Given the description of an element on the screen output the (x, y) to click on. 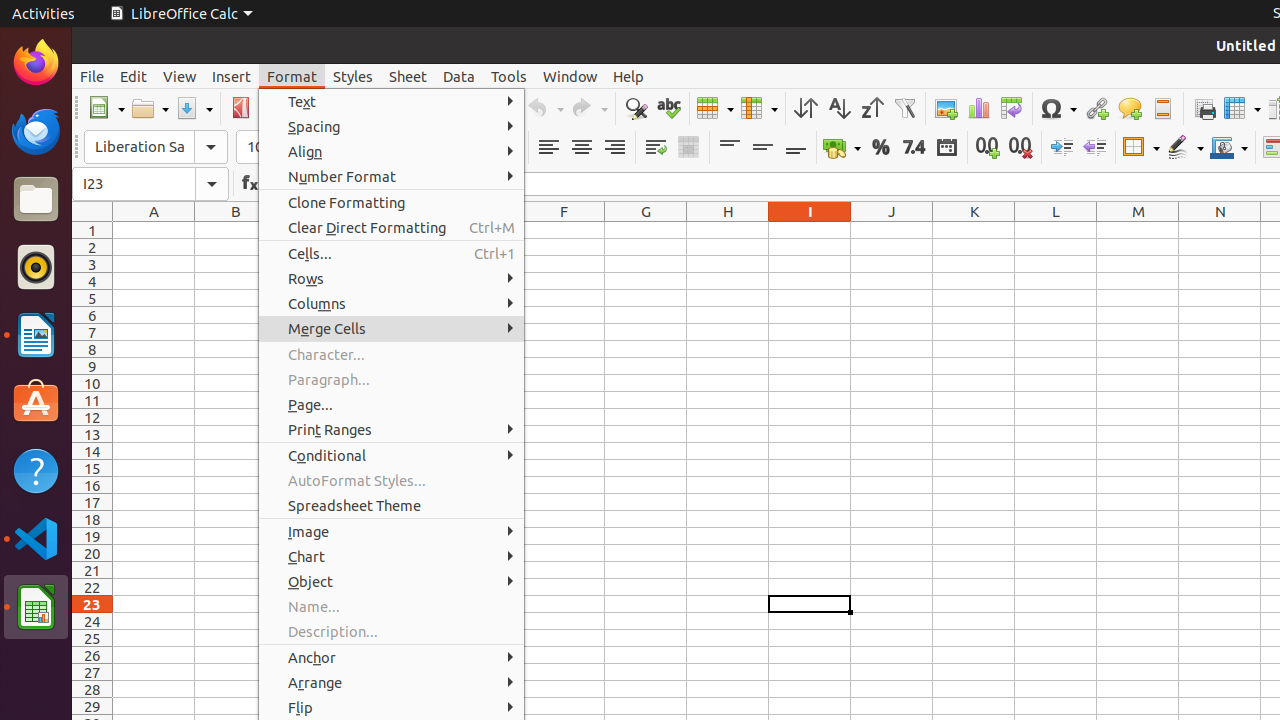
Print Area Element type: push-button (1203, 108)
Image Element type: push-button (945, 108)
Arrange Element type: menu (391, 682)
